Given the description of an element on the screen output the (x, y) to click on. 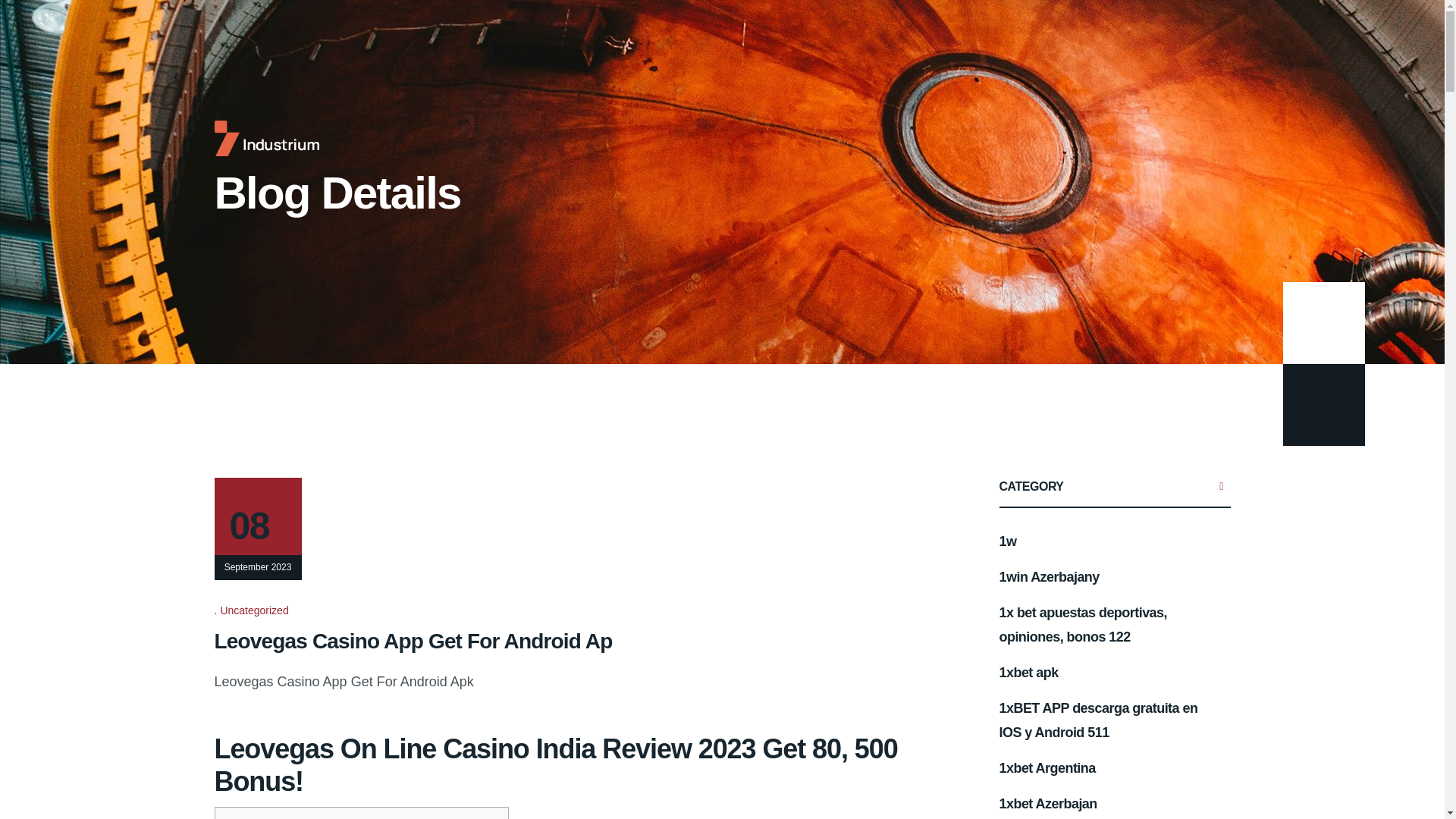
Uncategorized (255, 610)
